Given the description of an element on the screen output the (x, y) to click on. 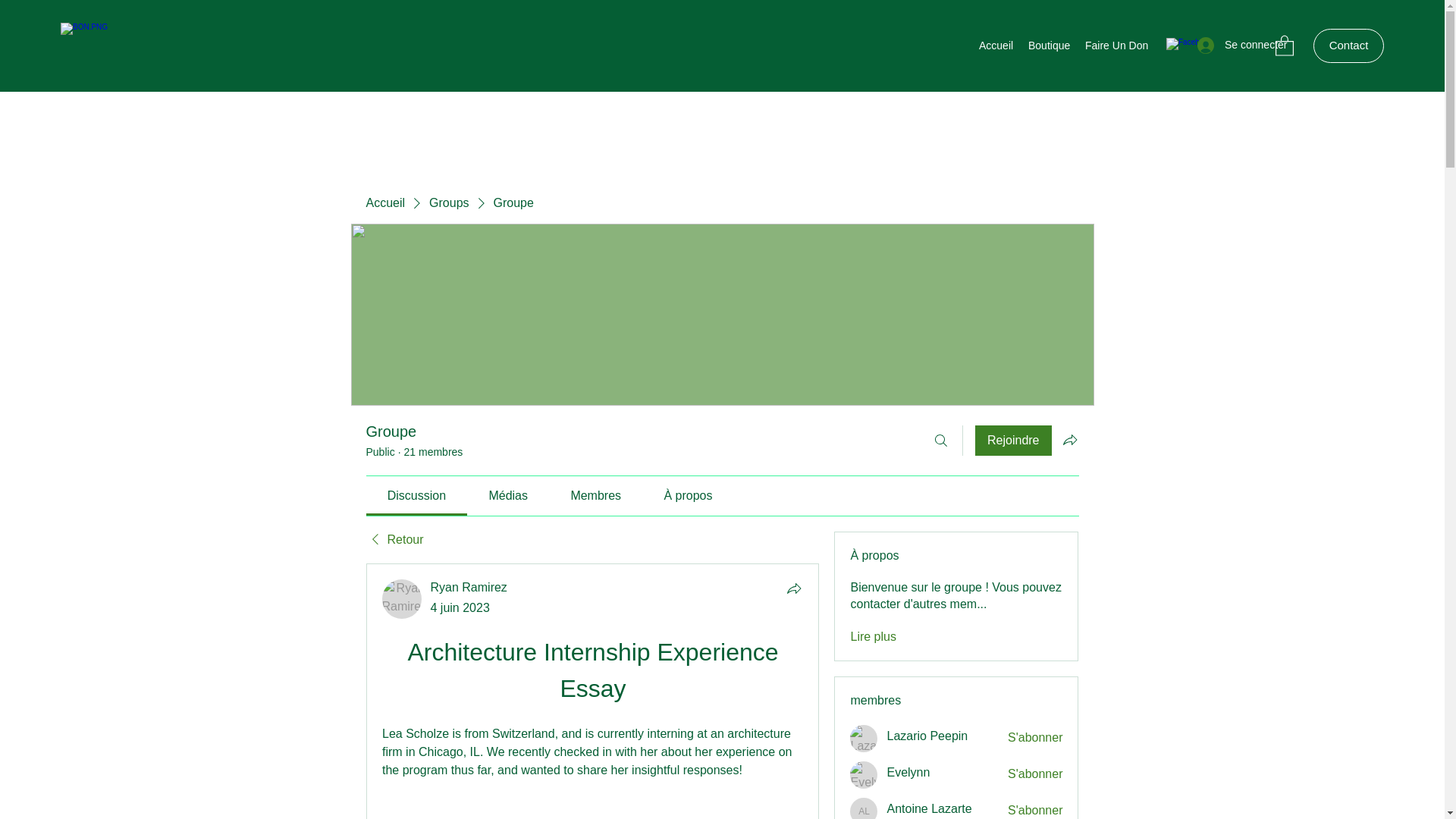
S'abonner (1034, 810)
Ryan Ramirez (468, 586)
Contact (1348, 45)
Antoine Lazarte (928, 808)
Evelynn (863, 774)
Rejoindre (1013, 440)
Evelynn (908, 772)
Boutique (1048, 45)
Retour (394, 539)
S'abonner (1034, 773)
